Given the description of an element on the screen output the (x, y) to click on. 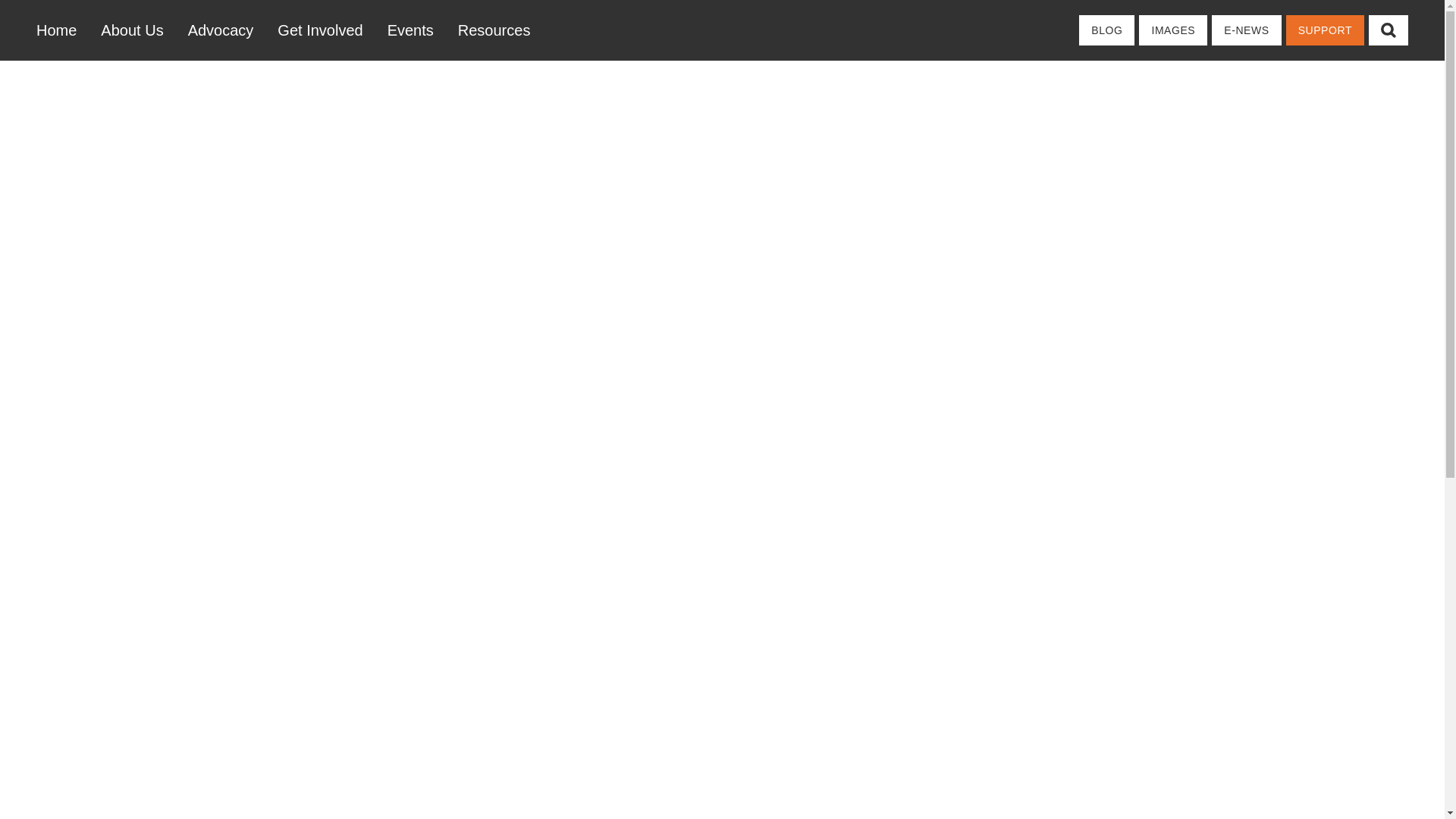
About Us (131, 30)
Get Involved (319, 30)
Home (62, 30)
Advocacy (221, 30)
Events (410, 30)
